Given the description of an element on the screen output the (x, y) to click on. 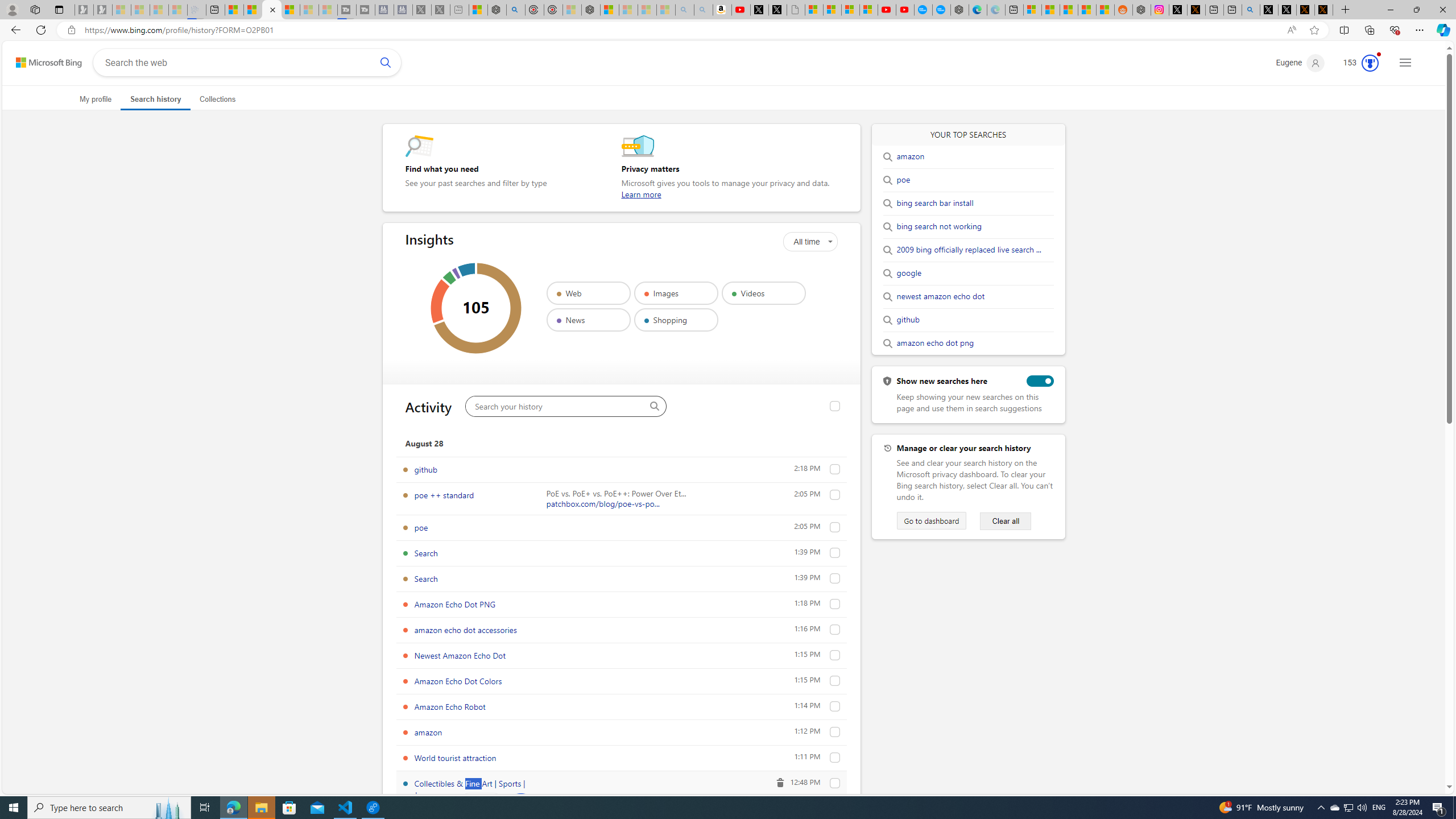
Log in to X / X (1178, 9)
X - Sleeping (440, 9)
Restore (1416, 9)
Search history (155, 99)
Web (588, 292)
Personal Profile (12, 9)
Class: el_arc partner-web (477, 307)
github (908, 320)
amazon (910, 156)
